Given the description of an element on the screen output the (x, y) to click on. 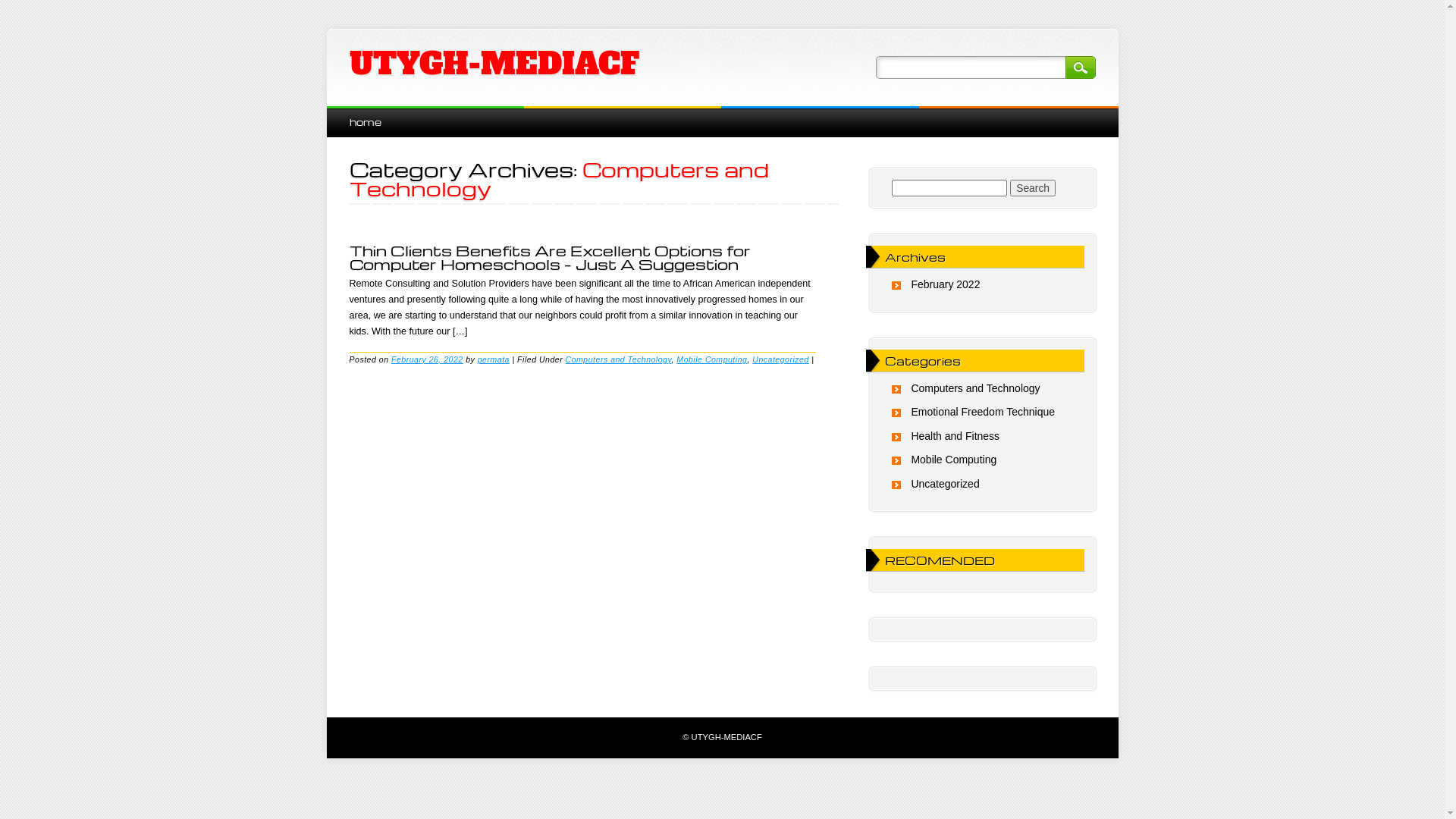
Search Element type: text (1079, 67)
permata Element type: text (493, 359)
Uncategorized Element type: text (780, 359)
Uncategorized Element type: text (944, 483)
February 2022 Element type: text (944, 284)
Health and Fitness Element type: text (954, 435)
Emotional Freedom Technique Element type: text (982, 411)
UTYGH-MEDIACF Element type: text (493, 63)
Computers and Technology Element type: text (974, 388)
Skip to content Element type: text (361, 113)
home Element type: text (364, 121)
Computers and Technology Element type: text (618, 359)
February 26, 2022 Element type: text (427, 359)
Mobile Computing Element type: text (953, 459)
Search Element type: text (1032, 187)
Mobile Computing Element type: text (711, 359)
